Given the description of an element on the screen output the (x, y) to click on. 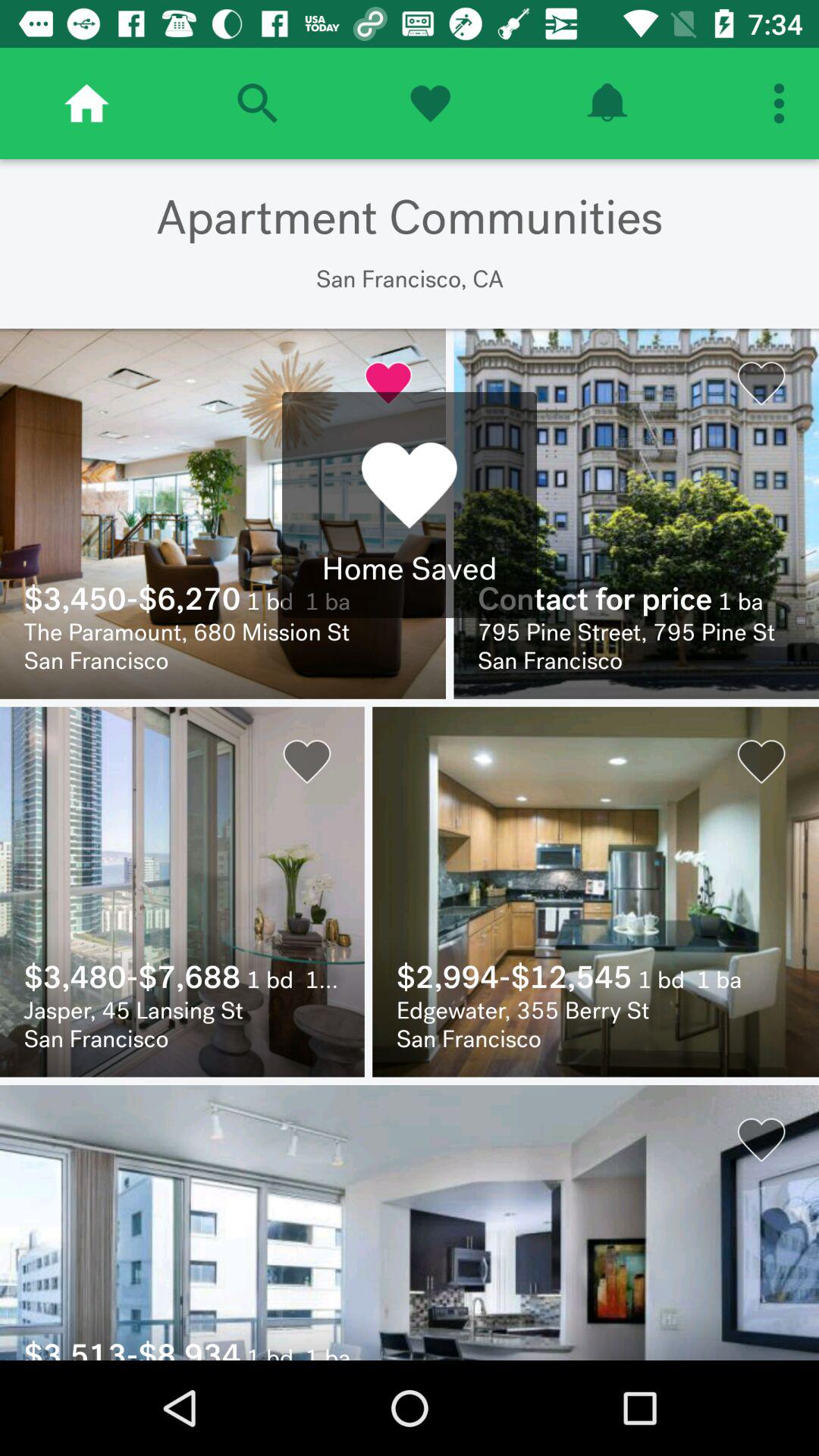
love or like this selection (429, 103)
